Given the description of an element on the screen output the (x, y) to click on. 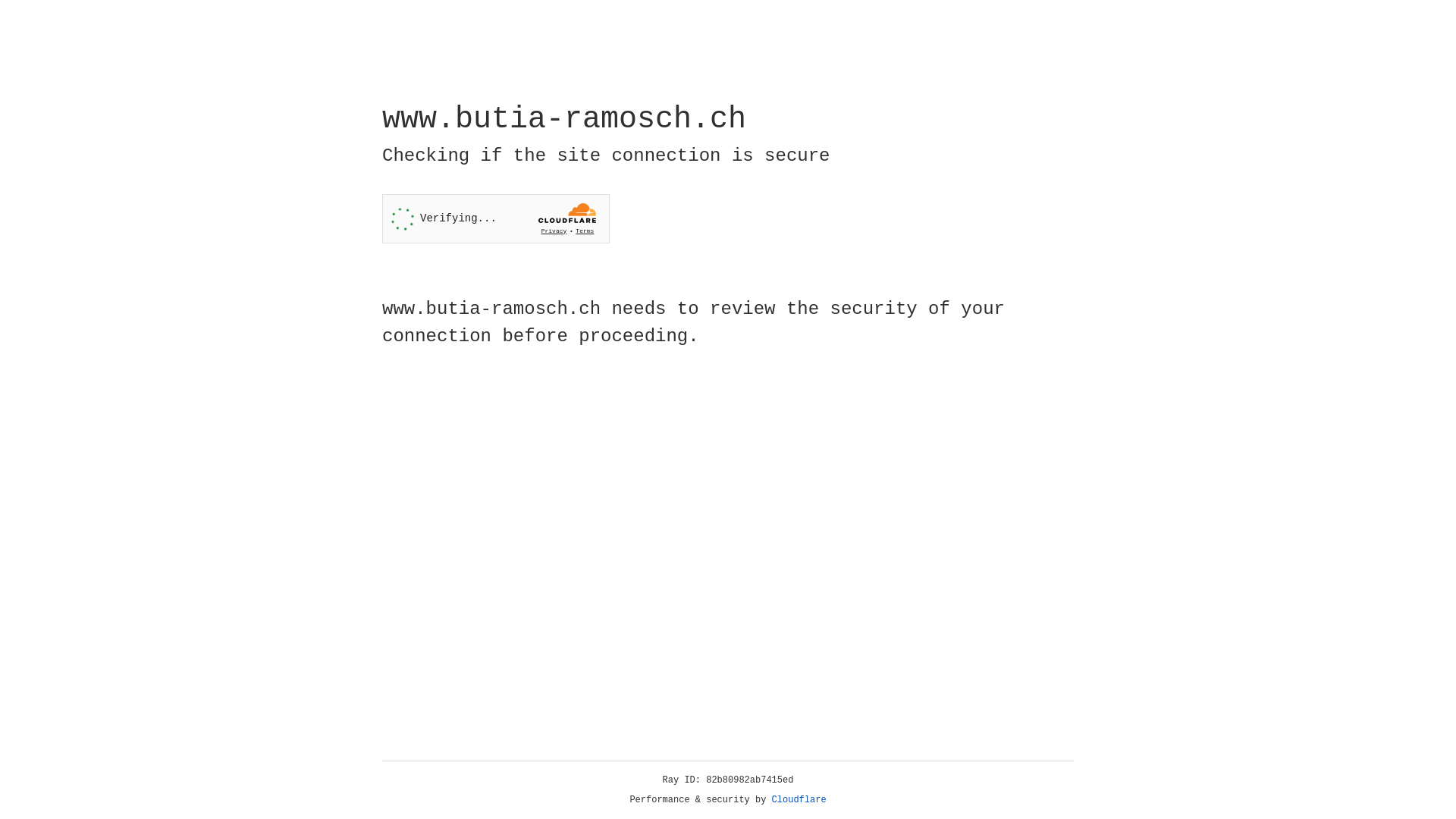
Widget containing a Cloudflare security challenge Element type: hover (495, 218)
Cloudflare Element type: text (798, 799)
